Given the description of an element on the screen output the (x, y) to click on. 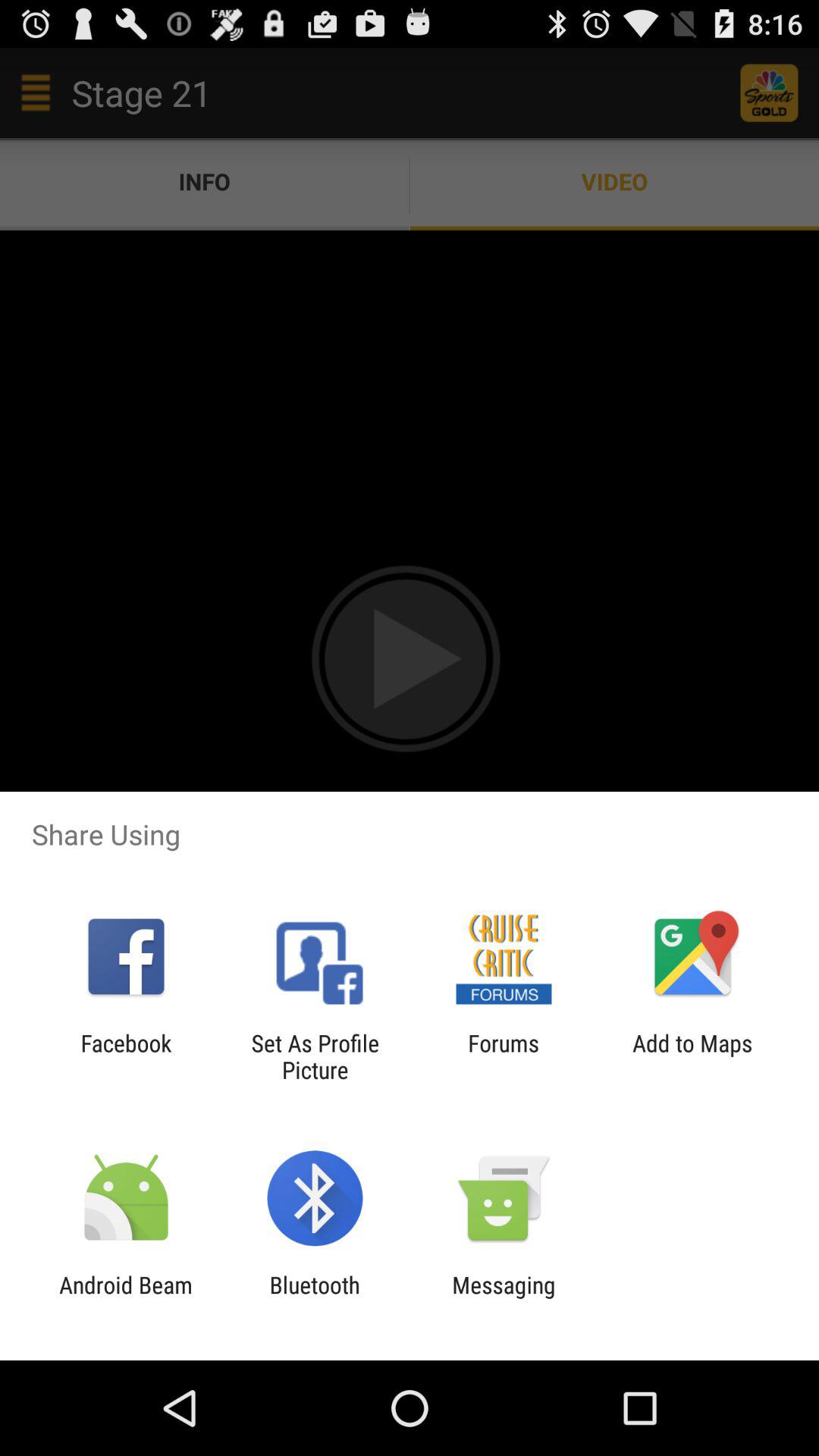
click app next to bluetooth app (125, 1298)
